Given the description of an element on the screen output the (x, y) to click on. 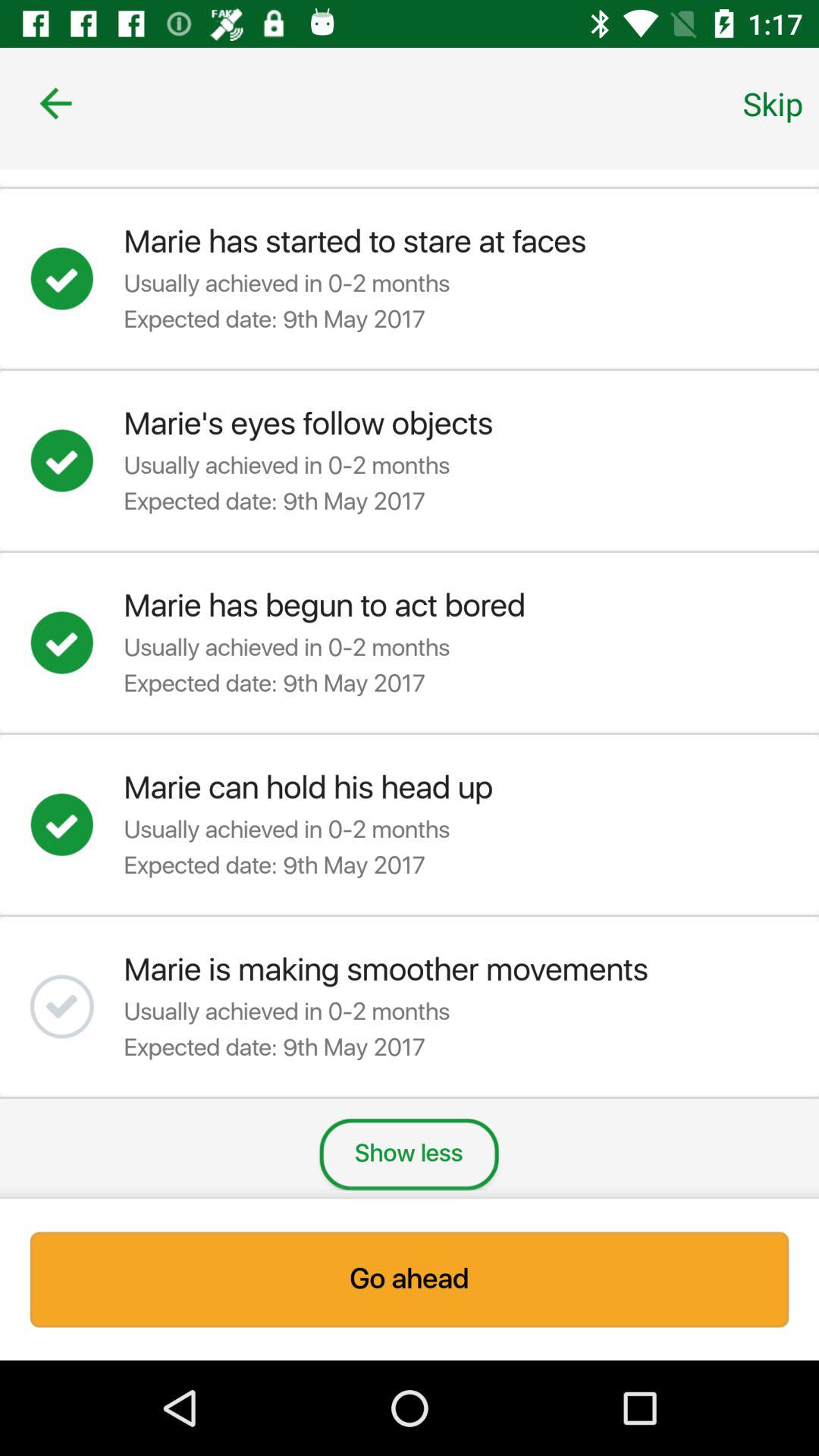
select the icon to the left of skip item (55, 103)
